Given the description of an element on the screen output the (x, y) to click on. 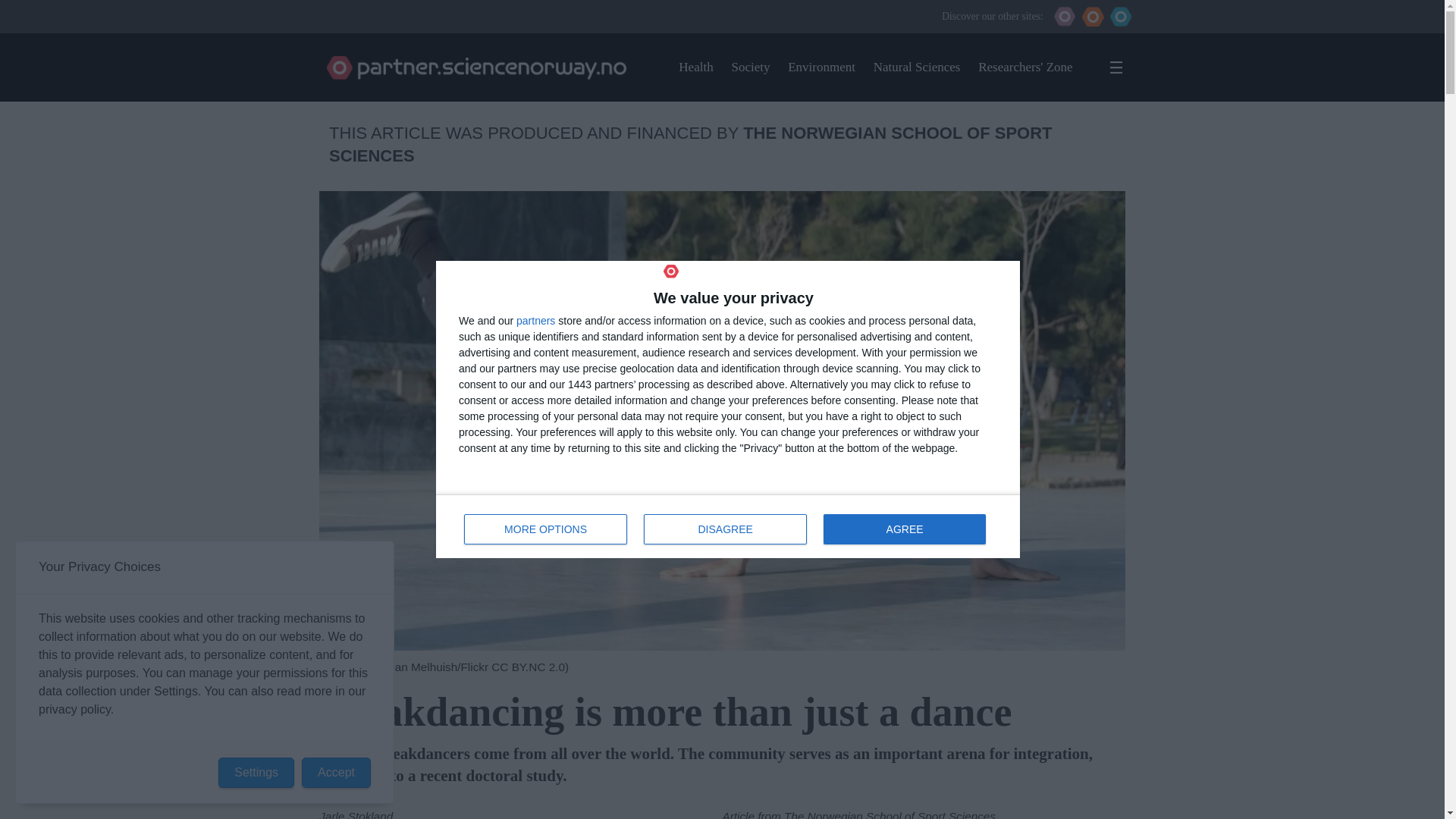
AGREE (904, 529)
Environment (727, 525)
partners (821, 66)
MORE OPTIONS (535, 320)
Natural Sciences (545, 529)
Health (916, 66)
Researchers' Zone (695, 66)
Society (1024, 66)
DISAGREE (750, 66)
